Given the description of an element on the screen output the (x, y) to click on. 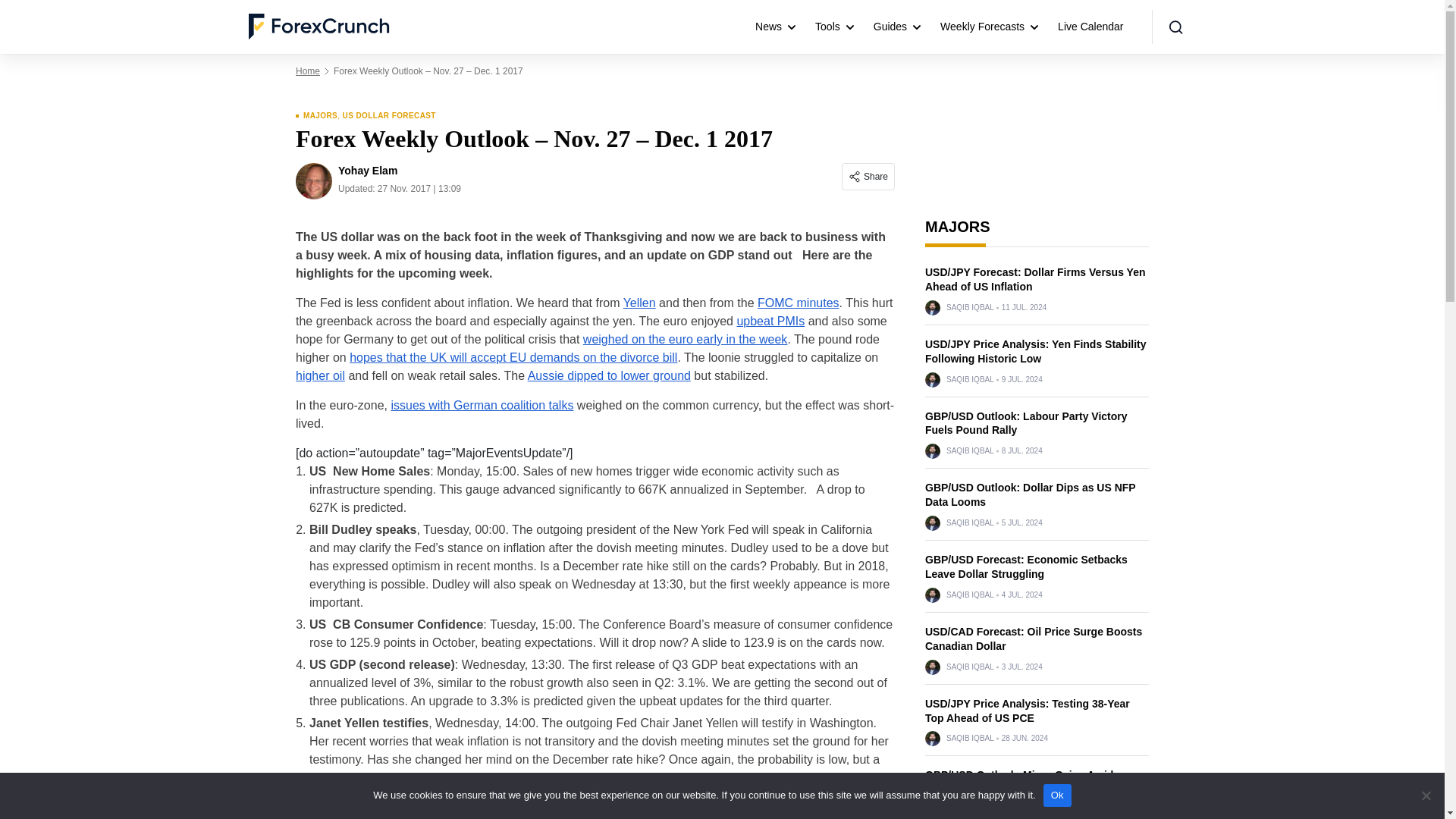
Forex News (774, 27)
No (1425, 795)
Tools (834, 27)
Guides (896, 27)
News (774, 27)
